Given the description of an element on the screen output the (x, y) to click on. 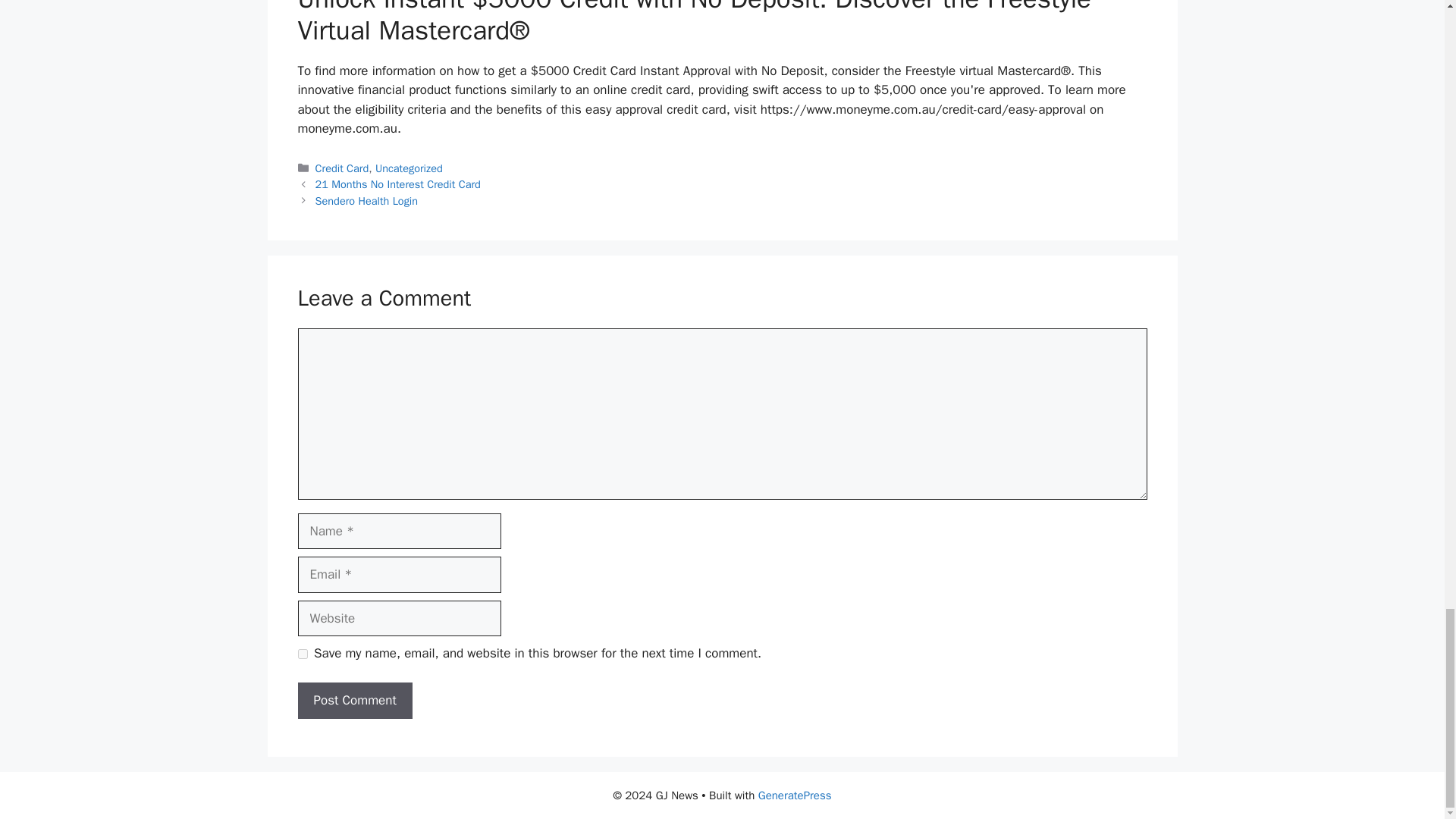
yes (302, 654)
Credit Card (342, 168)
GeneratePress (794, 795)
Sendero Health Login (367, 201)
Post Comment (354, 700)
21 Months No Interest Credit Card (397, 183)
Uncategorized (408, 168)
Post Comment (354, 700)
